Given the description of an element on the screen output the (x, y) to click on. 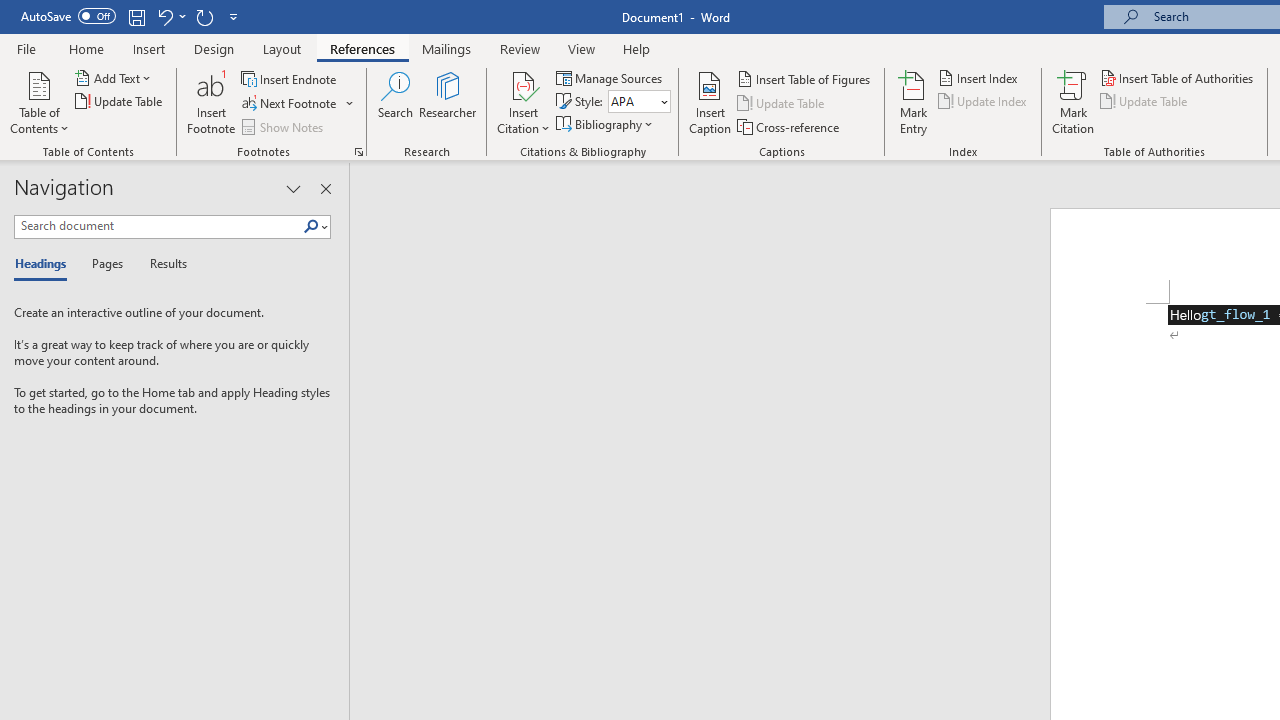
Bibliography (606, 124)
Researcher (447, 102)
Results (161, 264)
Add Text (114, 78)
Undo Underline Style (170, 15)
Mark Citation... (1072, 102)
Table of Contents (39, 102)
